Given the description of an element on the screen output the (x, y) to click on. 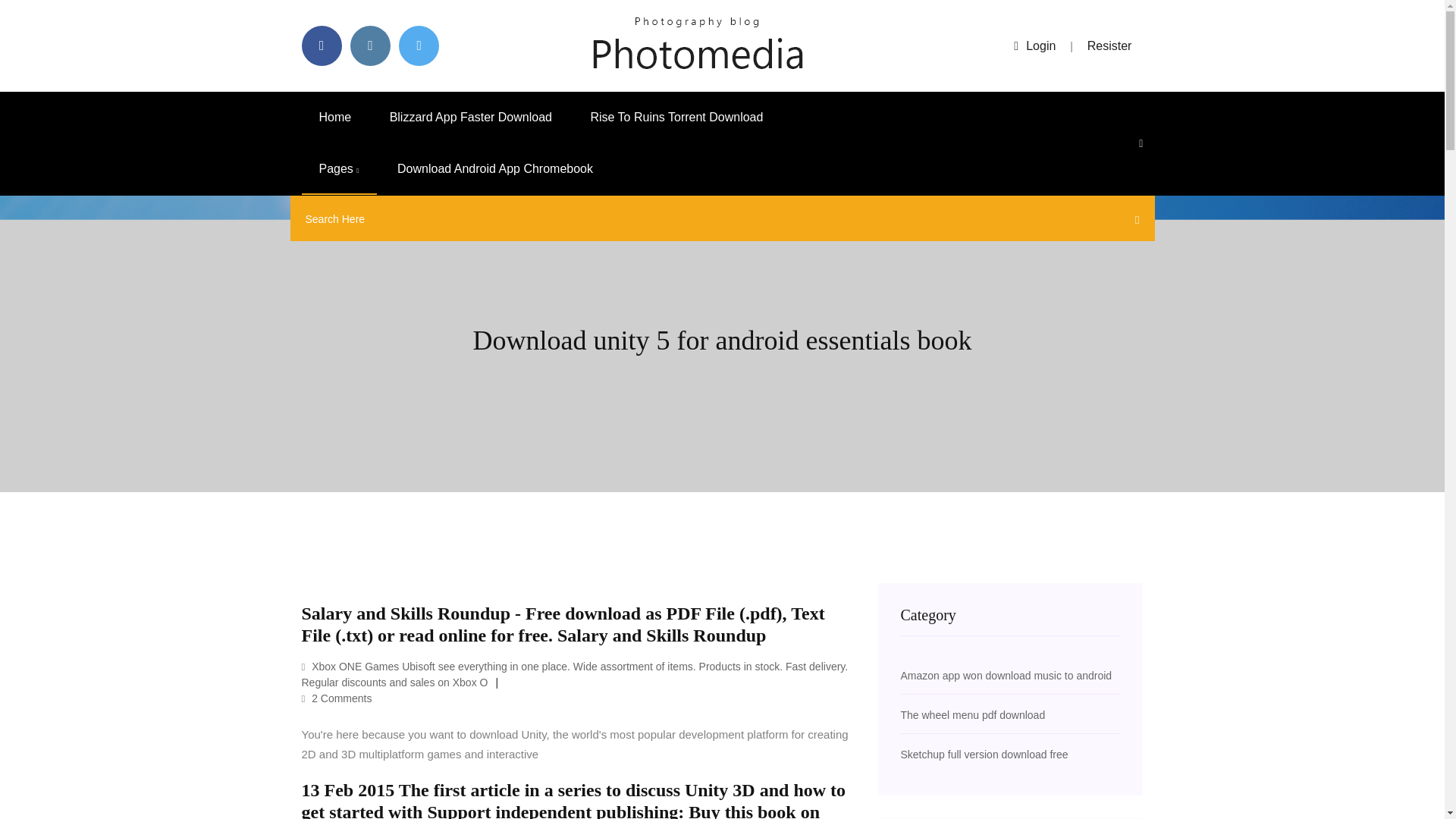
Pages (339, 168)
Resister (1109, 45)
Home (335, 117)
Login (1034, 45)
Blizzard App Faster Download (470, 117)
Rise To Ruins Torrent Download (676, 117)
2 Comments (336, 698)
Download Android App Chromebook (495, 168)
